Given the description of an element on the screen output the (x, y) to click on. 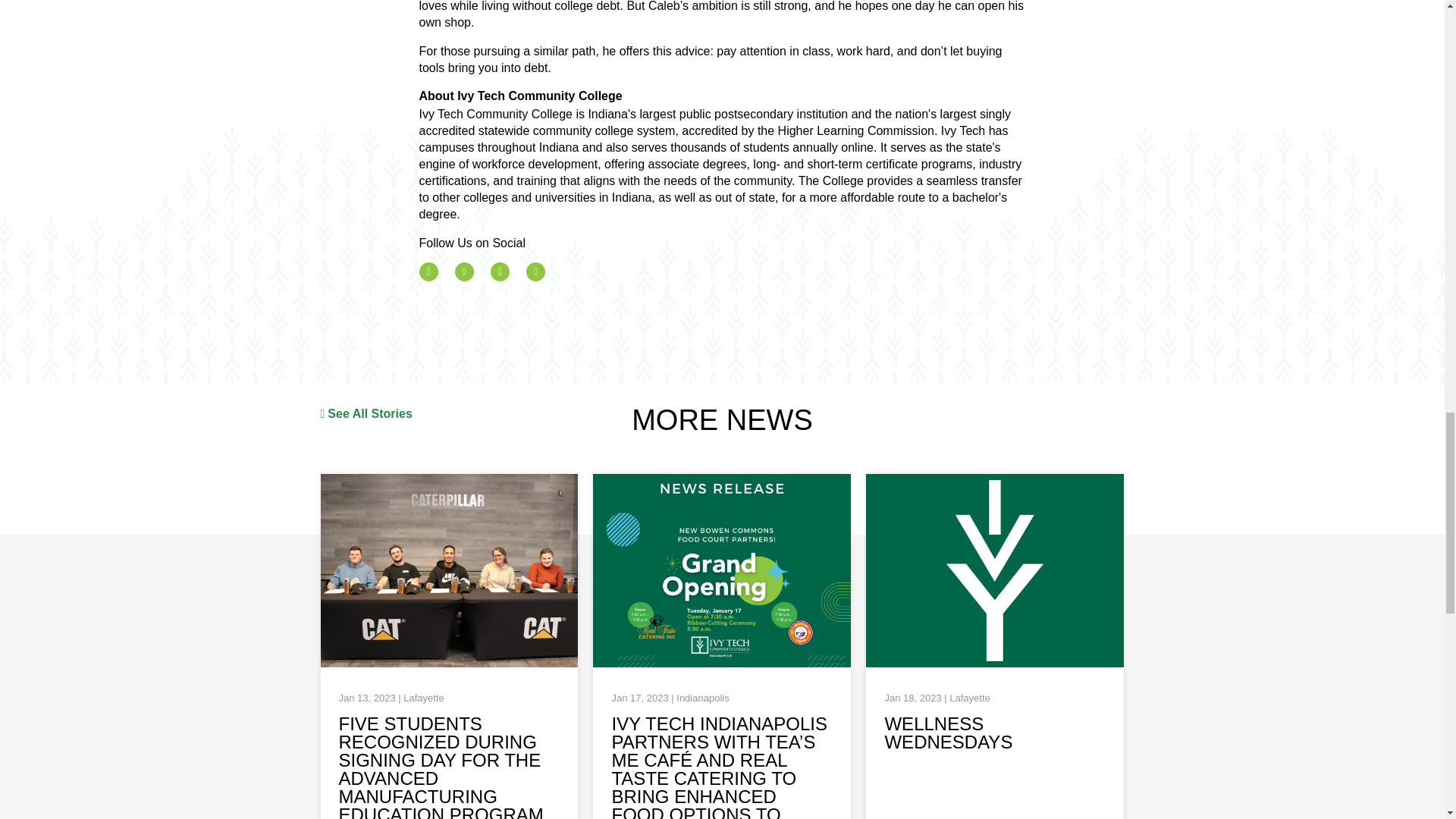
LinkedIn (534, 271)
Twitter (464, 271)
Instagram (499, 271)
Facebook (428, 271)
